Given the description of an element on the screen output the (x, y) to click on. 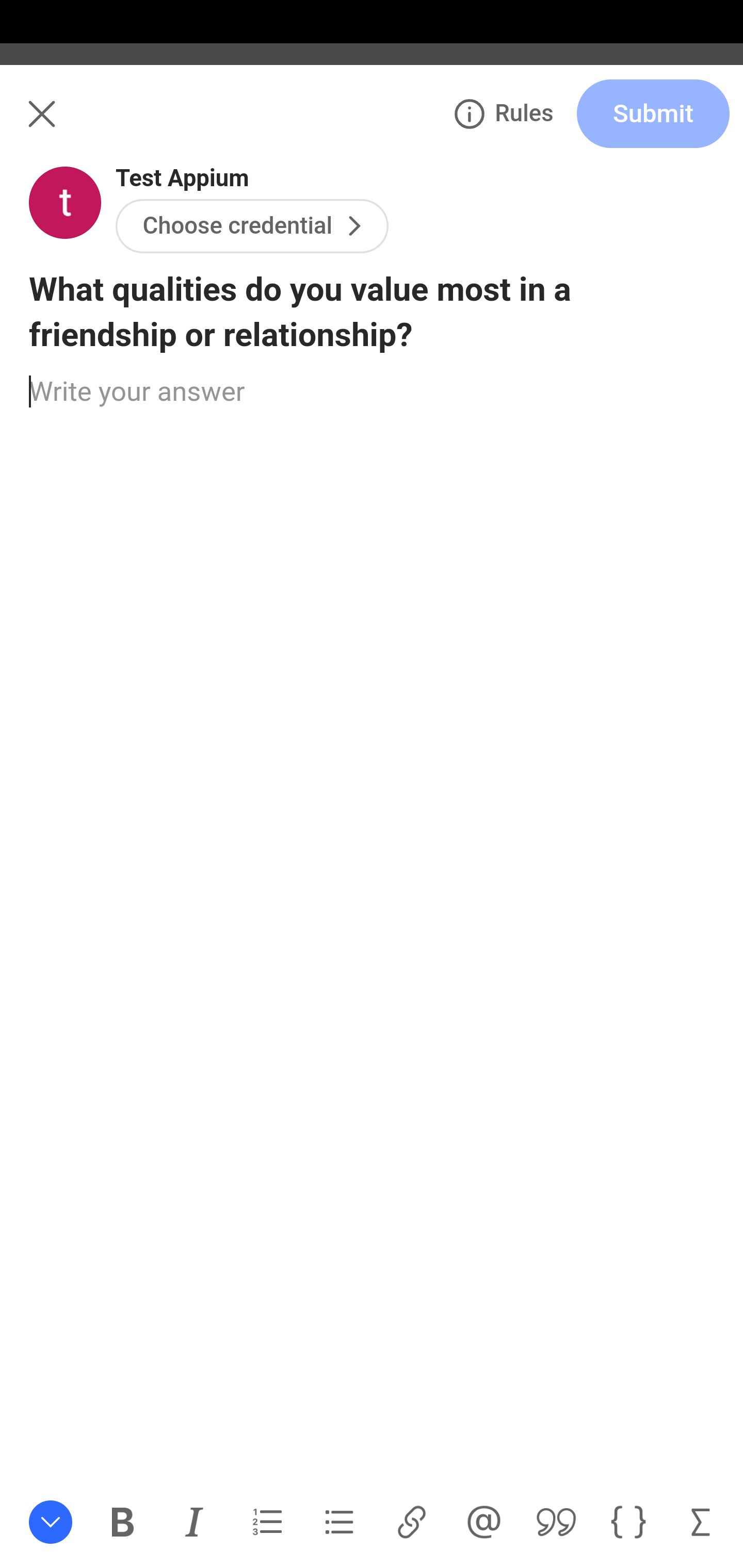
Me Answer Search Add (371, 125)
Me (64, 125)
For you (68, 210)
